Given the description of an element on the screen output the (x, y) to click on. 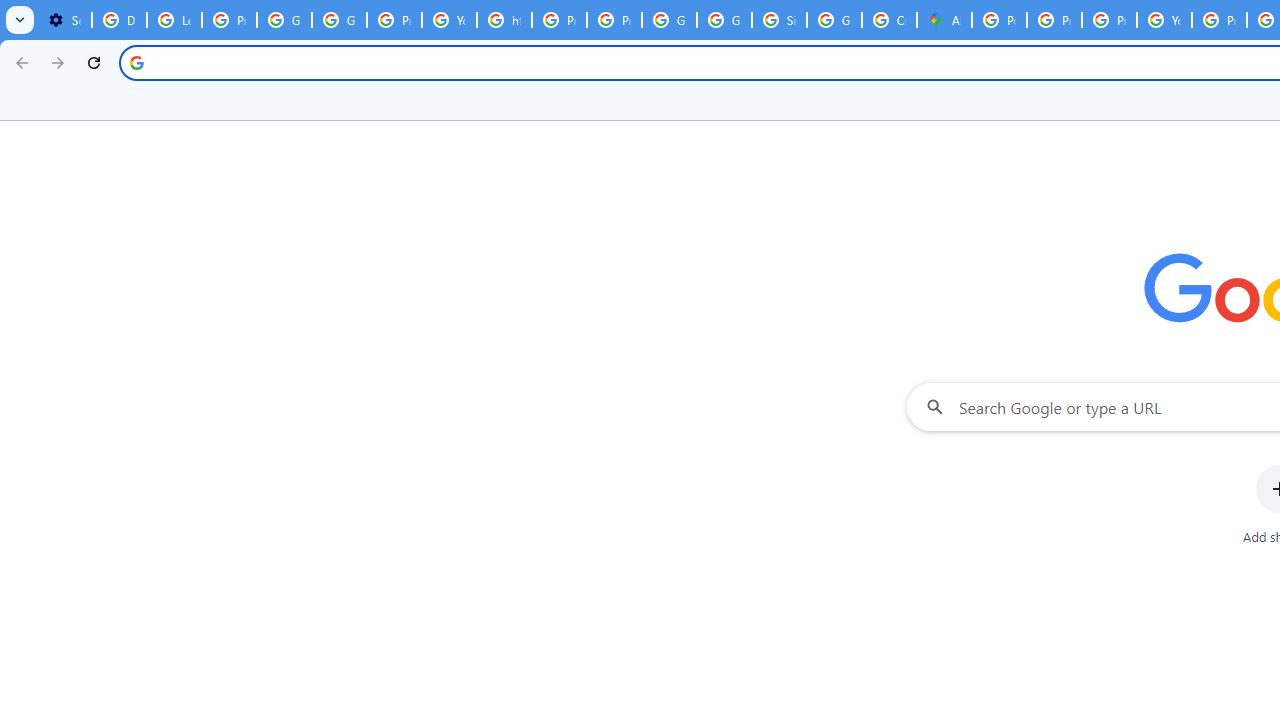
Sign in - Google Accounts (779, 20)
https://scholar.google.com/ (504, 20)
Delete photos & videos - Computer - Google Photos Help (119, 20)
Privacy Help Center - Policies Help (559, 20)
Privacy Help Center - Policies Help (1108, 20)
